Given the description of an element on the screen output the (x, y) to click on. 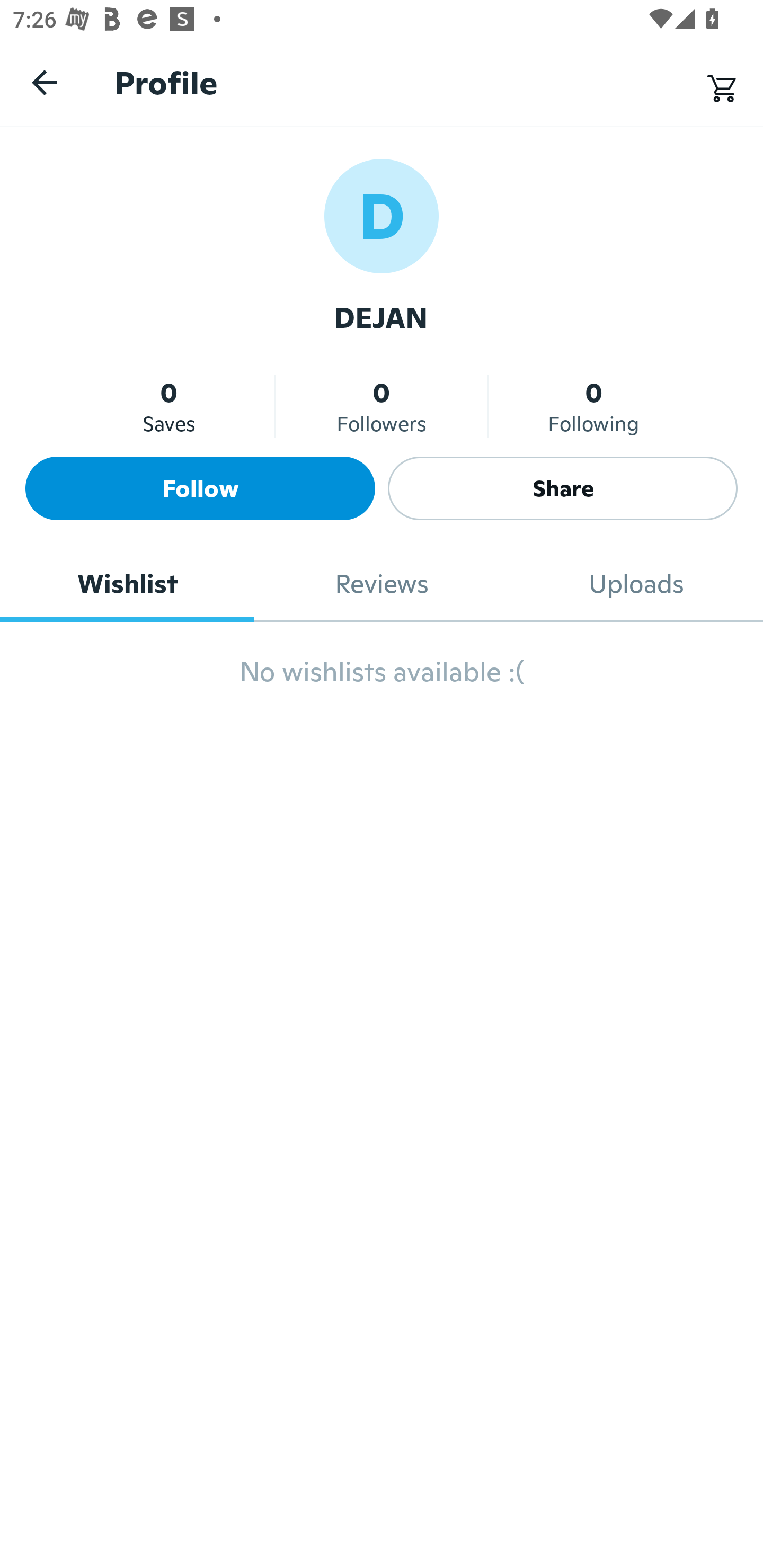
Navigate up (44, 82)
D (381, 215)
0 Followers (381, 405)
0 Following (593, 405)
Follow (200, 488)
Share (562, 488)
Wishlist (127, 583)
Reviews (381, 583)
Uploads (635, 583)
No wishlists available :( (381, 679)
